Given the description of an element on the screen output the (x, y) to click on. 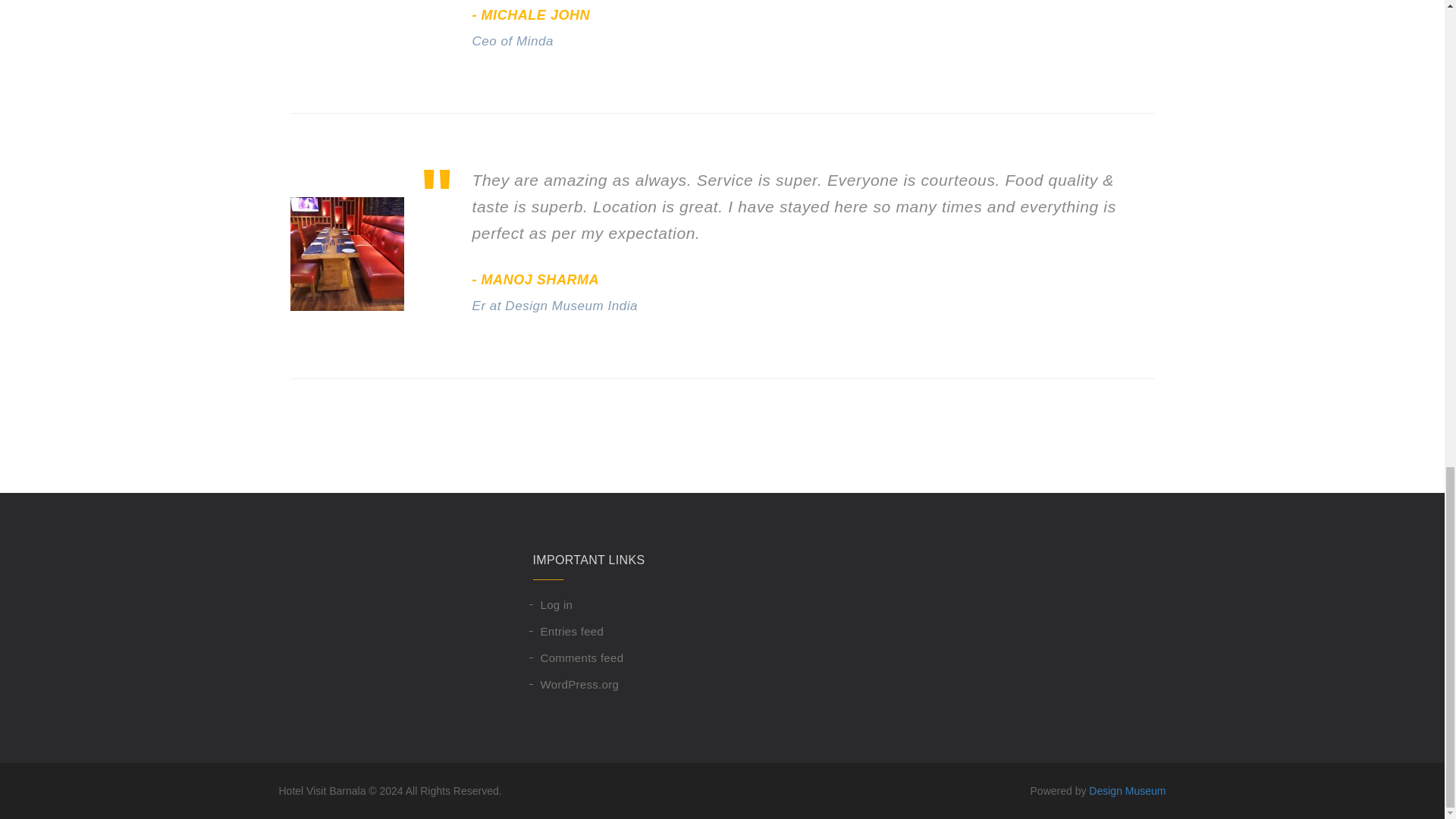
Design Museum (1127, 790)
WordPress.org (621, 683)
Entries feed (621, 631)
Log in (621, 604)
Comments feed (621, 657)
